Given the description of an element on the screen output the (x, y) to click on. 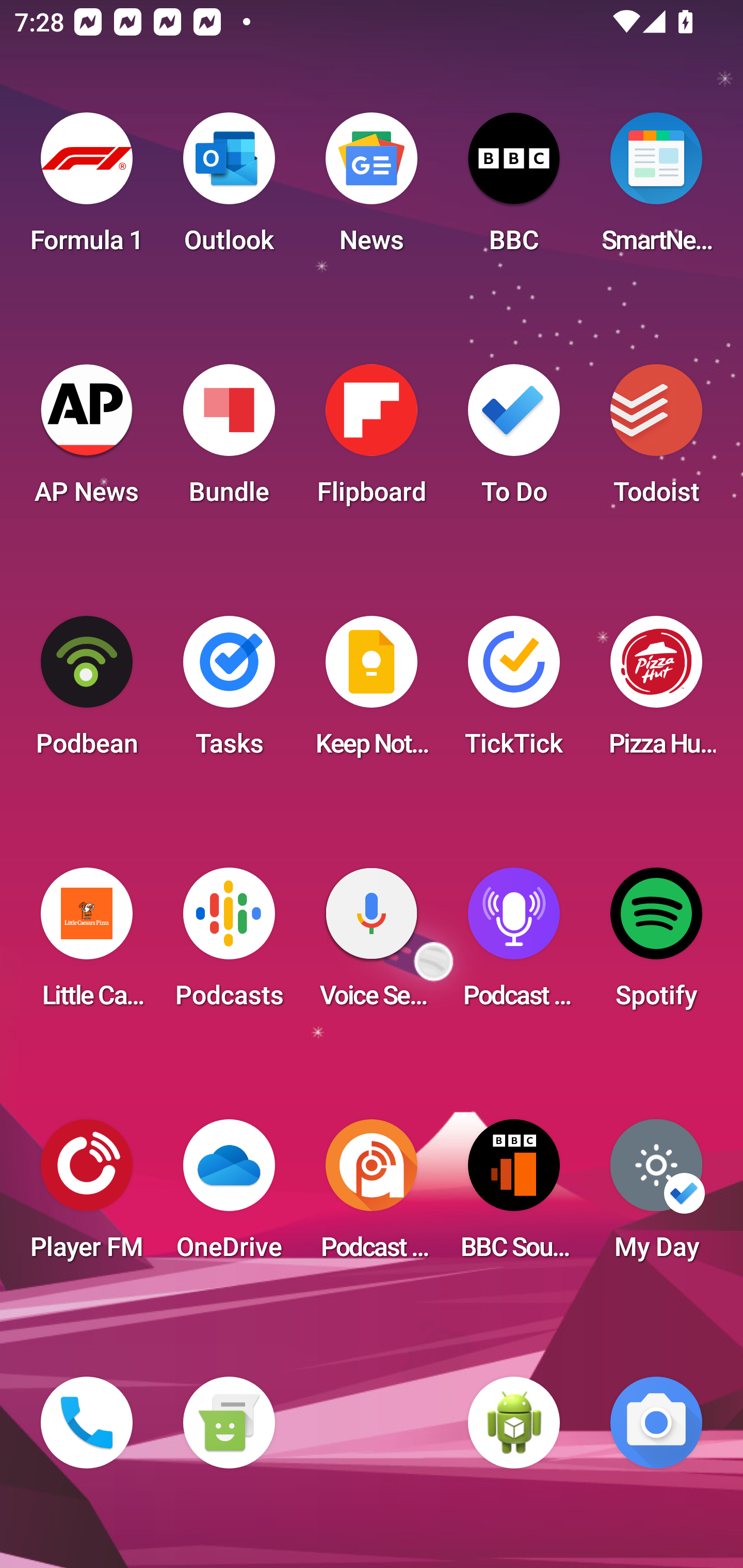
Formula 1 (86, 188)
Outlook (228, 188)
News (371, 188)
BBC (513, 188)
SmartNews (656, 188)
AP News (86, 440)
Bundle (228, 440)
Flipboard (371, 440)
To Do (513, 440)
Todoist (656, 440)
Podbean (86, 692)
Tasks (228, 692)
Keep Notes (371, 692)
TickTick (513, 692)
Pizza Hut HK & Macau (656, 692)
Little Caesars Pizza (86, 943)
Podcasts (228, 943)
Voice Search (371, 943)
Podcast Player (513, 943)
Spotify (656, 943)
Player FM (86, 1195)
OneDrive (228, 1195)
Podcast Addict (371, 1195)
BBC Sounds (513, 1195)
My Day (656, 1195)
Phone (86, 1422)
Messaging (228, 1422)
WebView Browser Tester (513, 1422)
Camera (656, 1422)
